Given the description of an element on the screen output the (x, y) to click on. 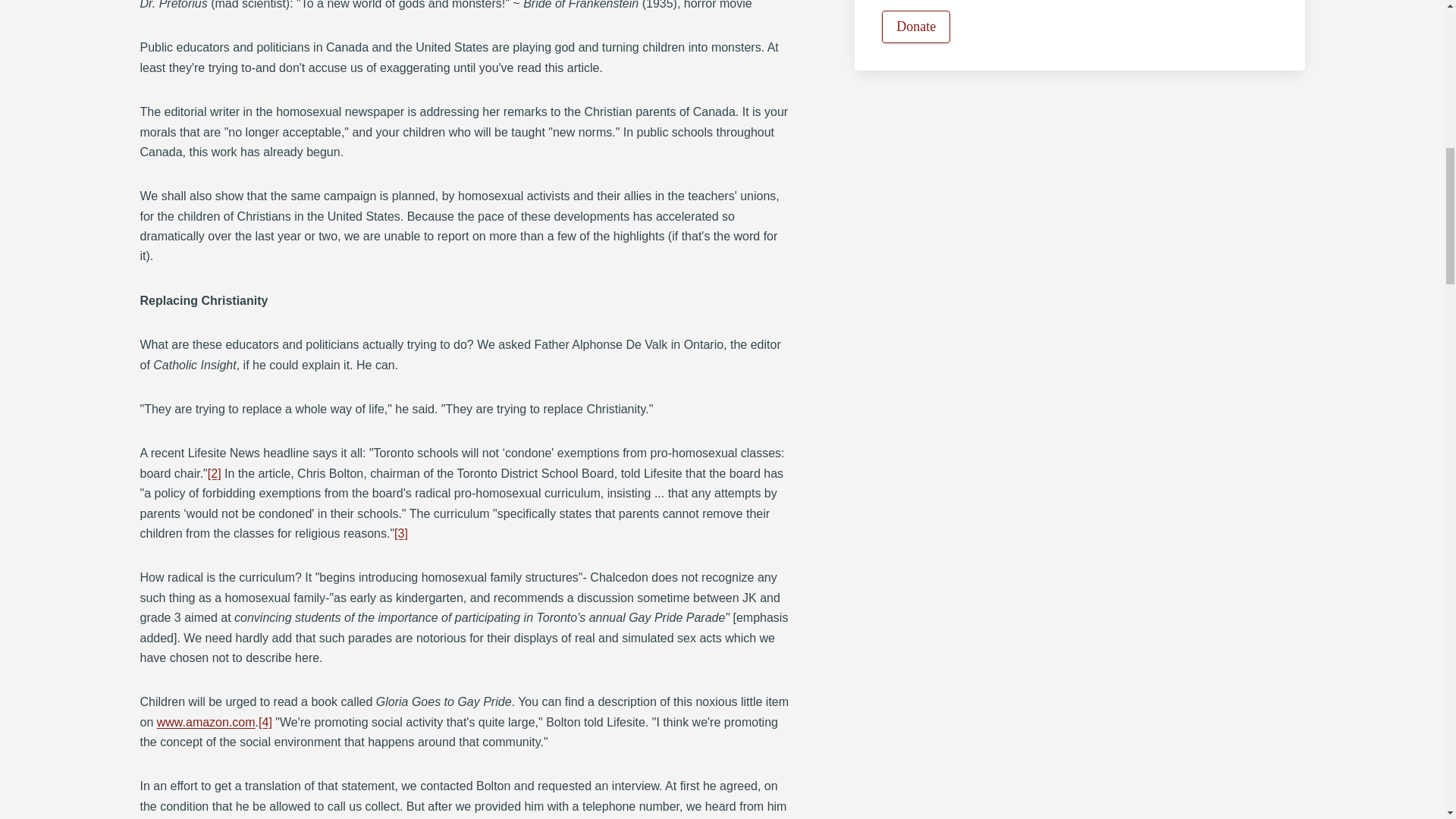
www.amazon.com (206, 721)
